Given the description of an element on the screen output the (x, y) to click on. 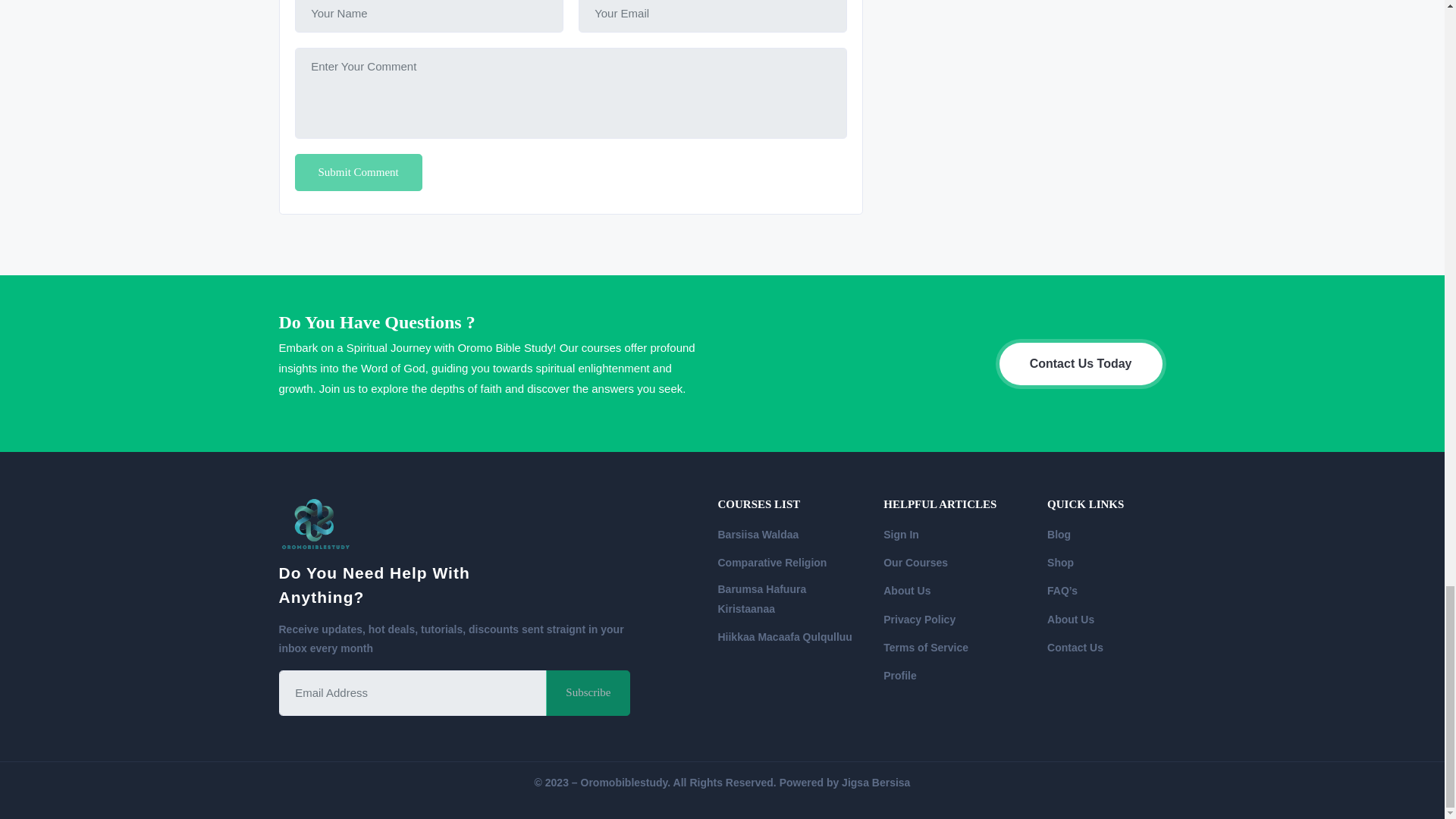
Submit Comment (358, 172)
Submit Comment (358, 172)
oromobibletudy - Oromobiblestudy (316, 525)
Subscribe (588, 692)
